Given the description of an element on the screen output the (x, y) to click on. 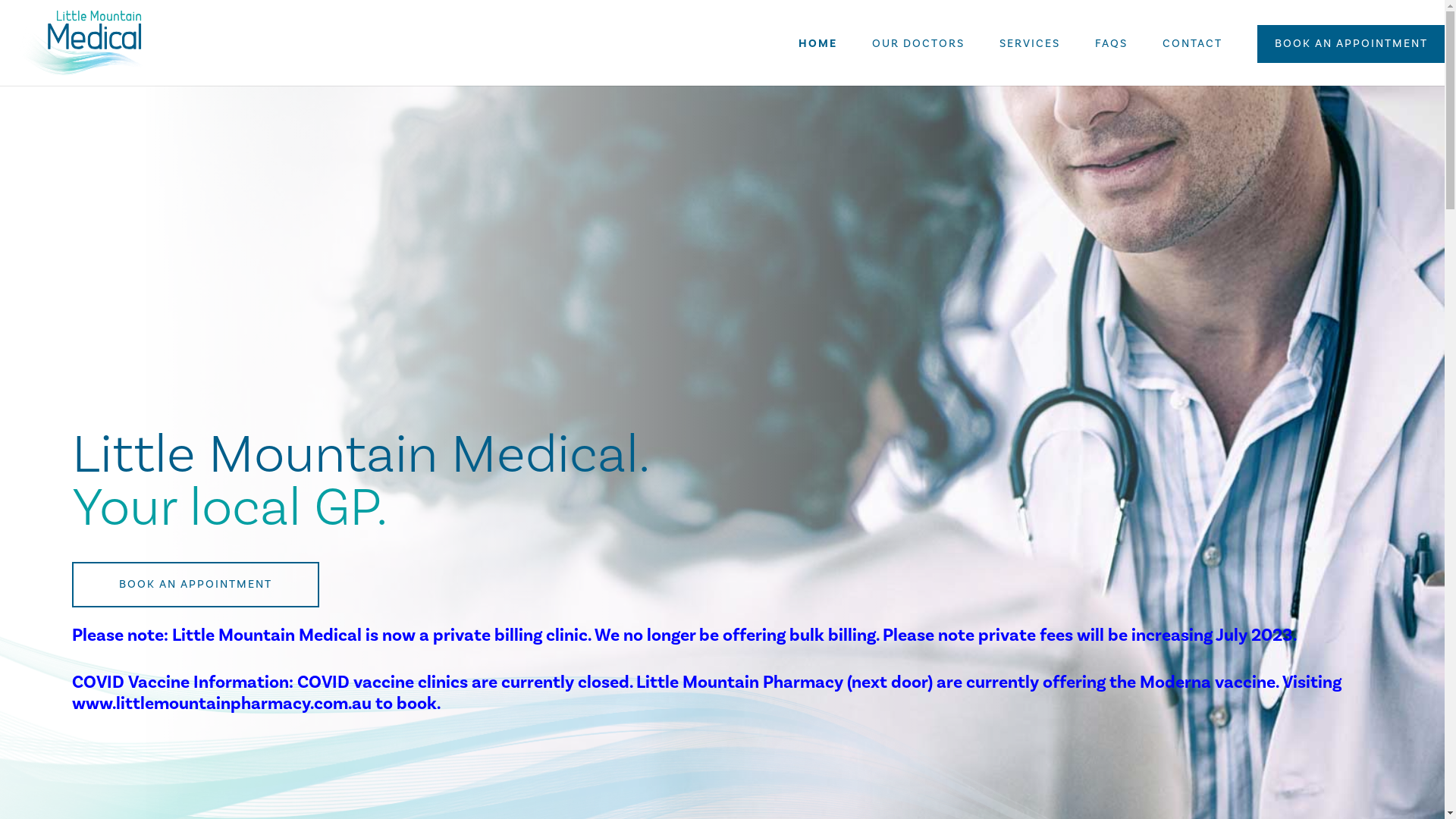
SERVICES Element type: text (1029, 50)
BOOK AN APPOINTMENT Element type: text (195, 584)
www.littlemountainpharmacy.com.au Element type: text (221, 703)
HOME Element type: text (817, 50)
CONTACT Element type: text (1192, 50)
OUR DOCTORS Element type: text (918, 50)
FAQS Element type: text (1111, 50)
BOOK AN APPOINTMENT Element type: text (1350, 43)
